Given the description of an element on the screen output the (x, y) to click on. 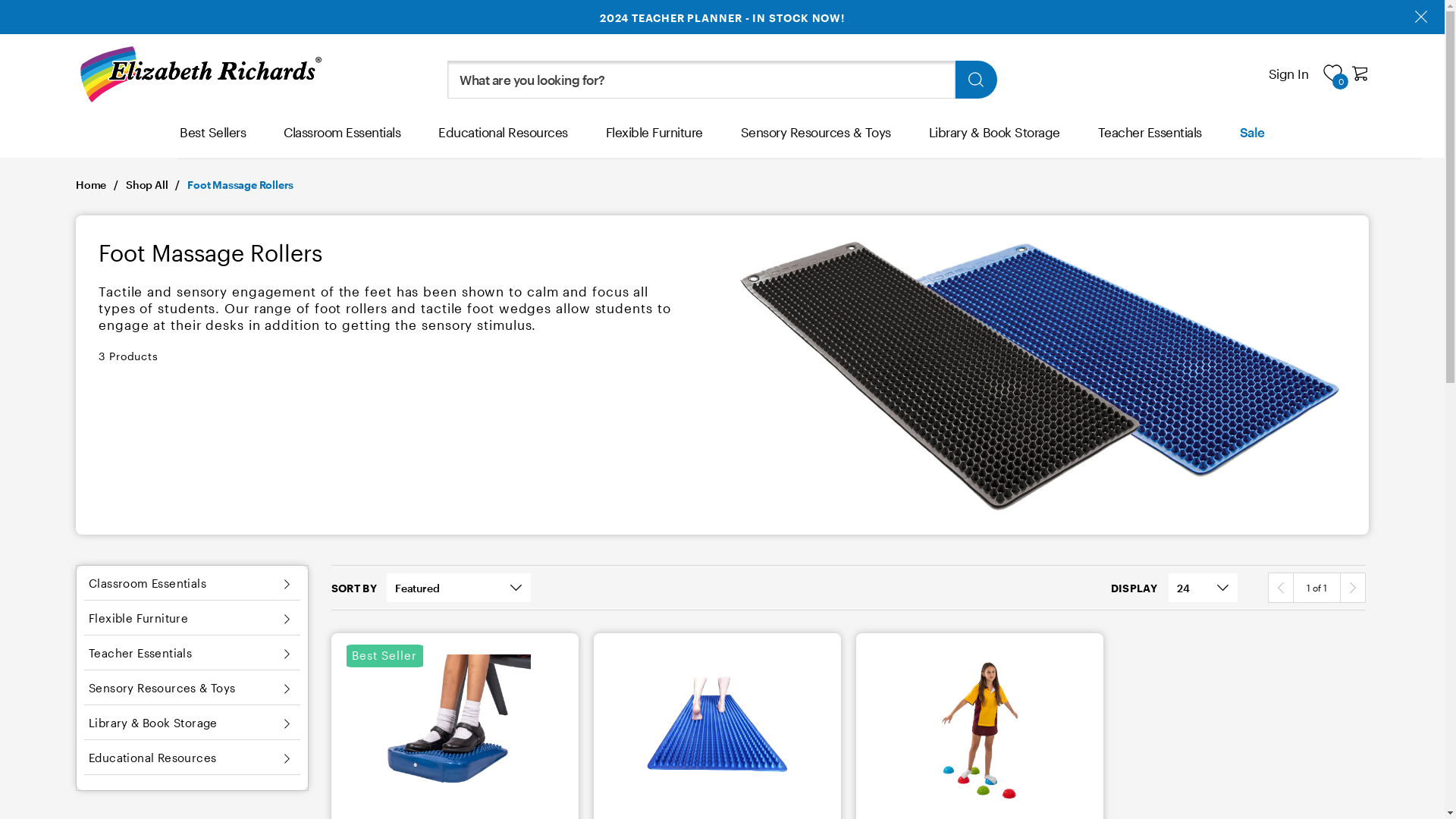
Teacher Essentials Element type: text (1149, 139)
Educational Resources Element type: text (502, 139)
Shop All Element type: text (156, 194)
Home Element type: text (100, 194)
Sign In Element type: text (1288, 73)
Sale Element type: text (1251, 139)
Sensory Resources & Toys Element type: text (815, 139)
Flexible Furniture Element type: text (653, 139)
0 Element type: text (1332, 72)
Library & Book Storage Element type: text (994, 139)
Best Sellers Element type: text (212, 139)
Classroom Essentials Element type: text (341, 139)
